Given the description of an element on the screen output the (x, y) to click on. 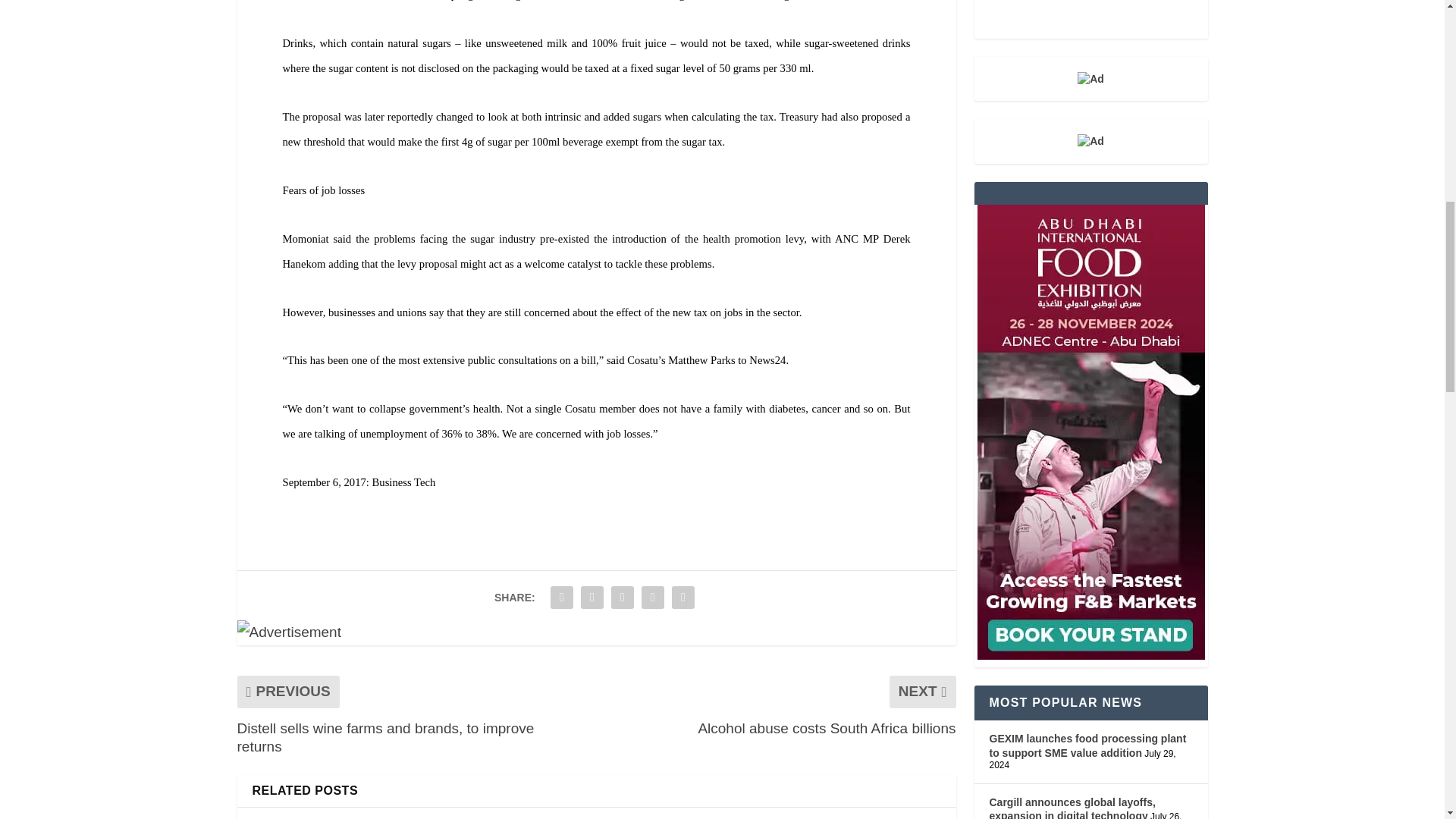
LATEST DIGITAL MAGAZINE (1090, 19)
